Given the description of an element on the screen output the (x, y) to click on. 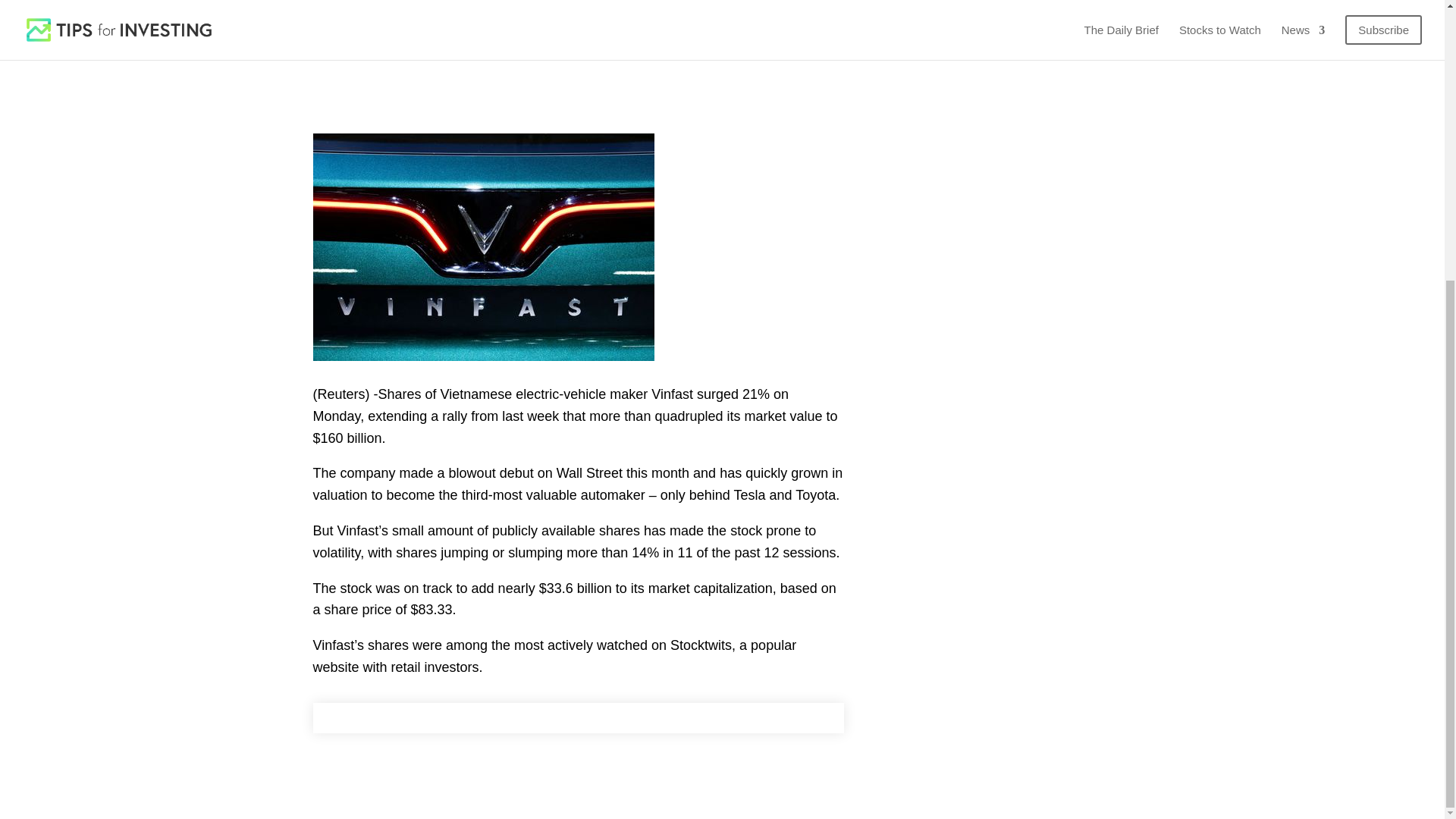
Posts by Reuters (354, 3)
Business (509, 3)
FILE PHOTO: 2022 Paris Auto Show (483, 247)
Reuters (354, 3)
